Given the description of an element on the screen output the (x, y) to click on. 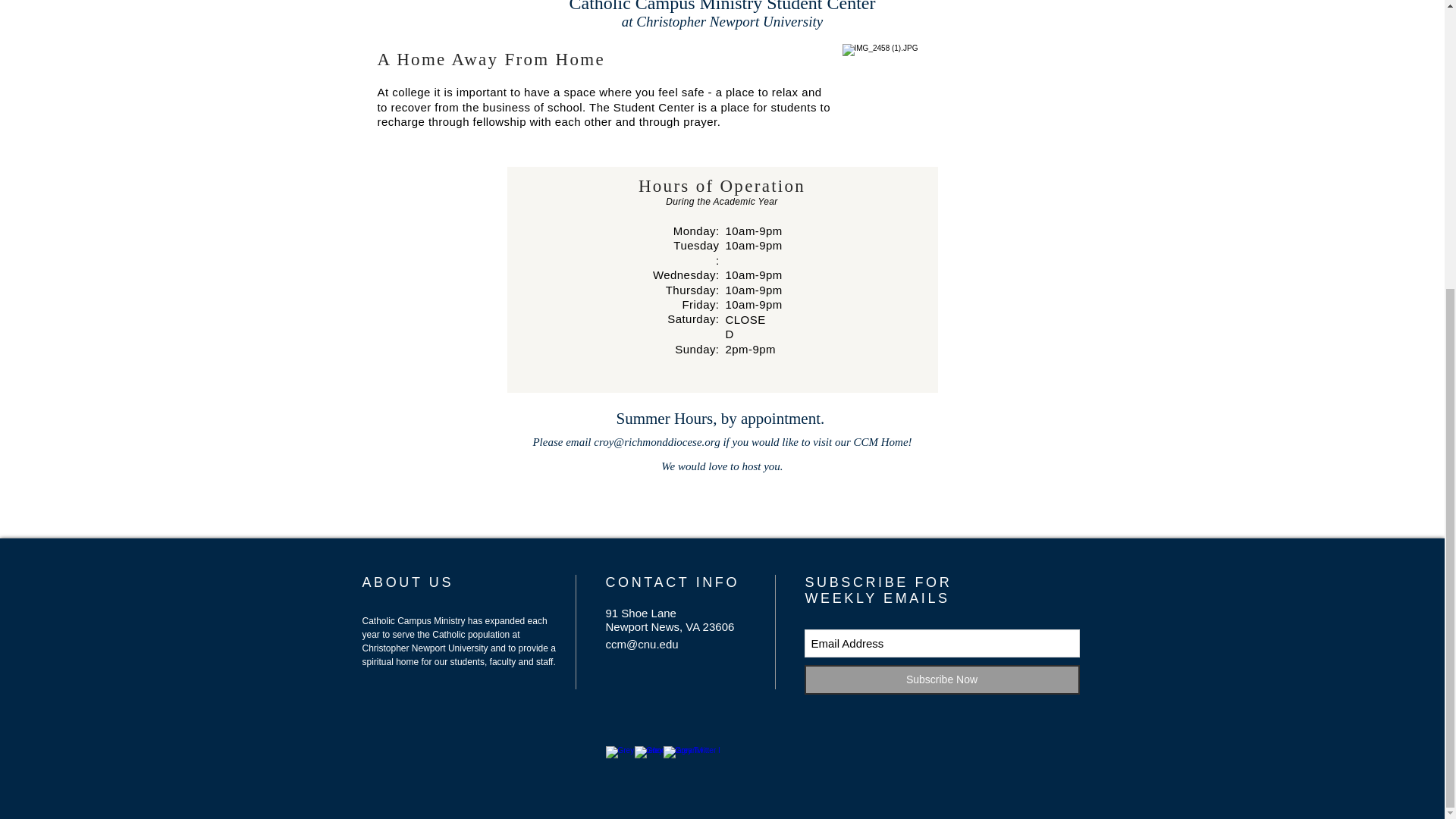
Subscribe Now (940, 679)
